Given the description of an element on the screen output the (x, y) to click on. 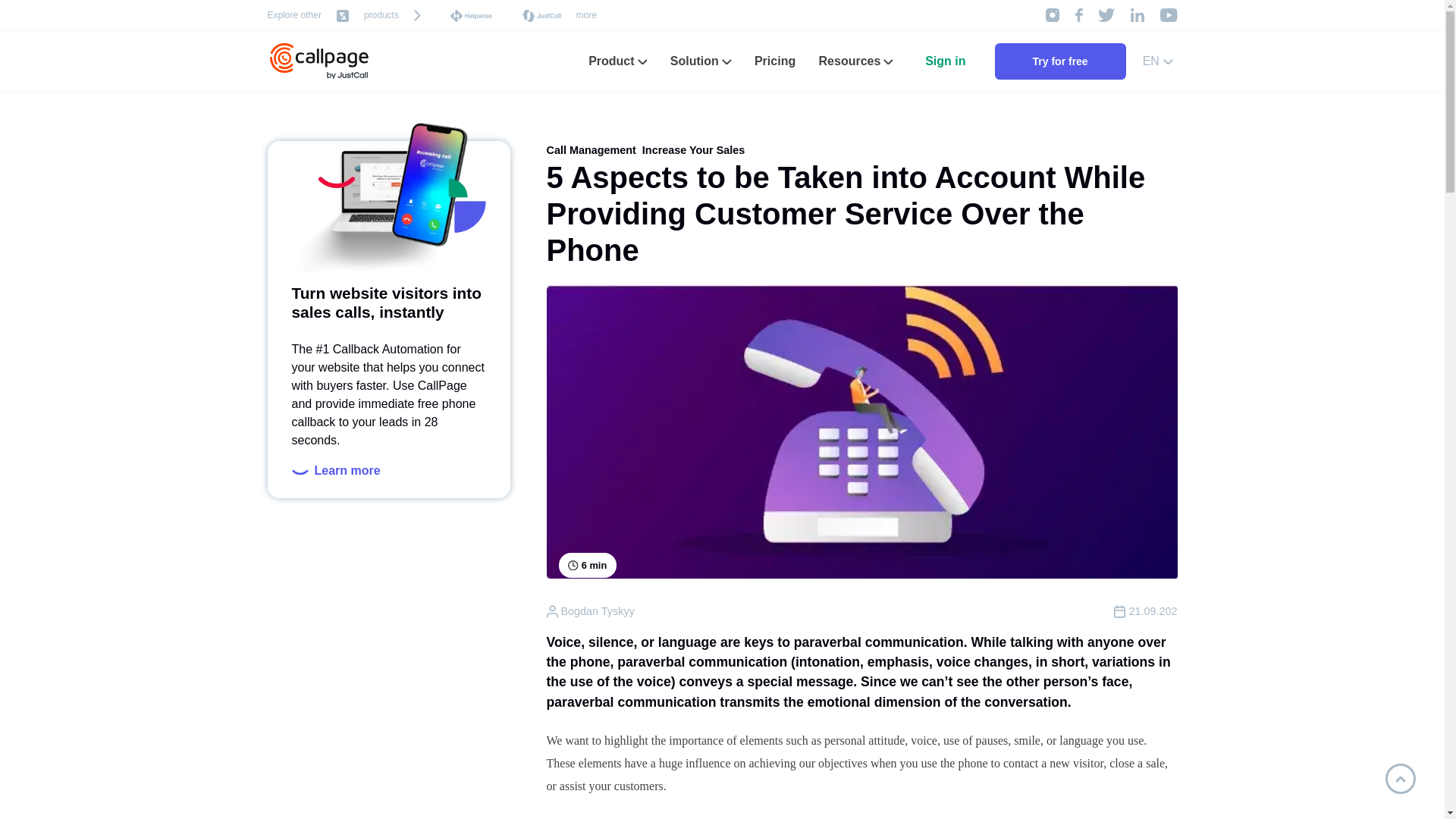
Try for free (1059, 61)
Learn more (335, 470)
Sign in (944, 61)
Pricing (774, 61)
Call Management (590, 150)
Product (617, 61)
Increase Your Sales (693, 150)
EN (1157, 61)
Resources (855, 61)
more (586, 15)
Solution (700, 61)
